Given the description of an element on the screen output the (x, y) to click on. 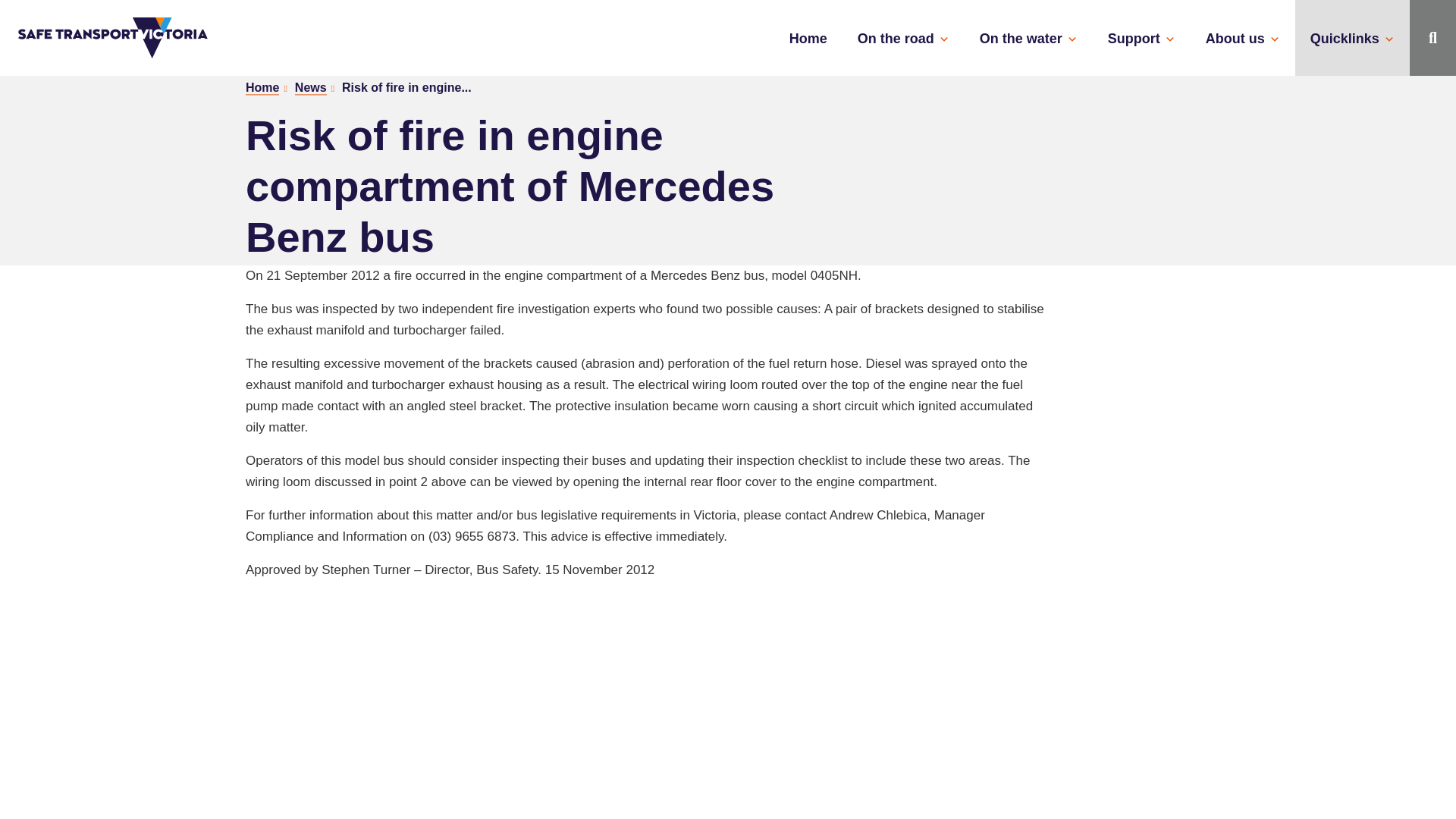
On the water (1028, 37)
Home (807, 37)
On the road (903, 37)
